Given the description of an element on the screen output the (x, y) to click on. 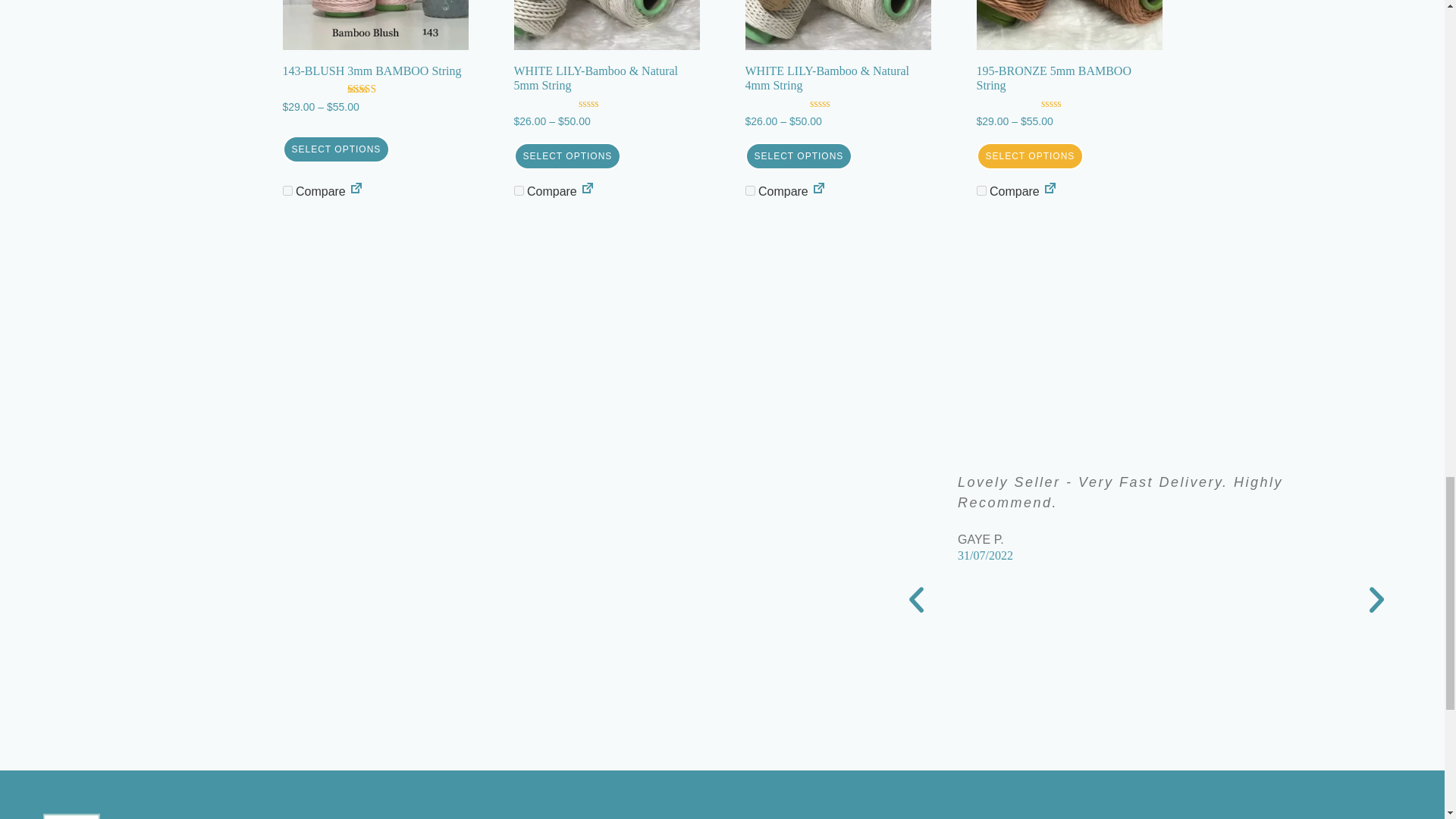
Compare Page (587, 190)
Compare Page (818, 190)
on (518, 190)
on (287, 190)
on (981, 190)
on (749, 190)
Compare Page (356, 190)
Compare Page (1050, 190)
